Given the description of an element on the screen output the (x, y) to click on. 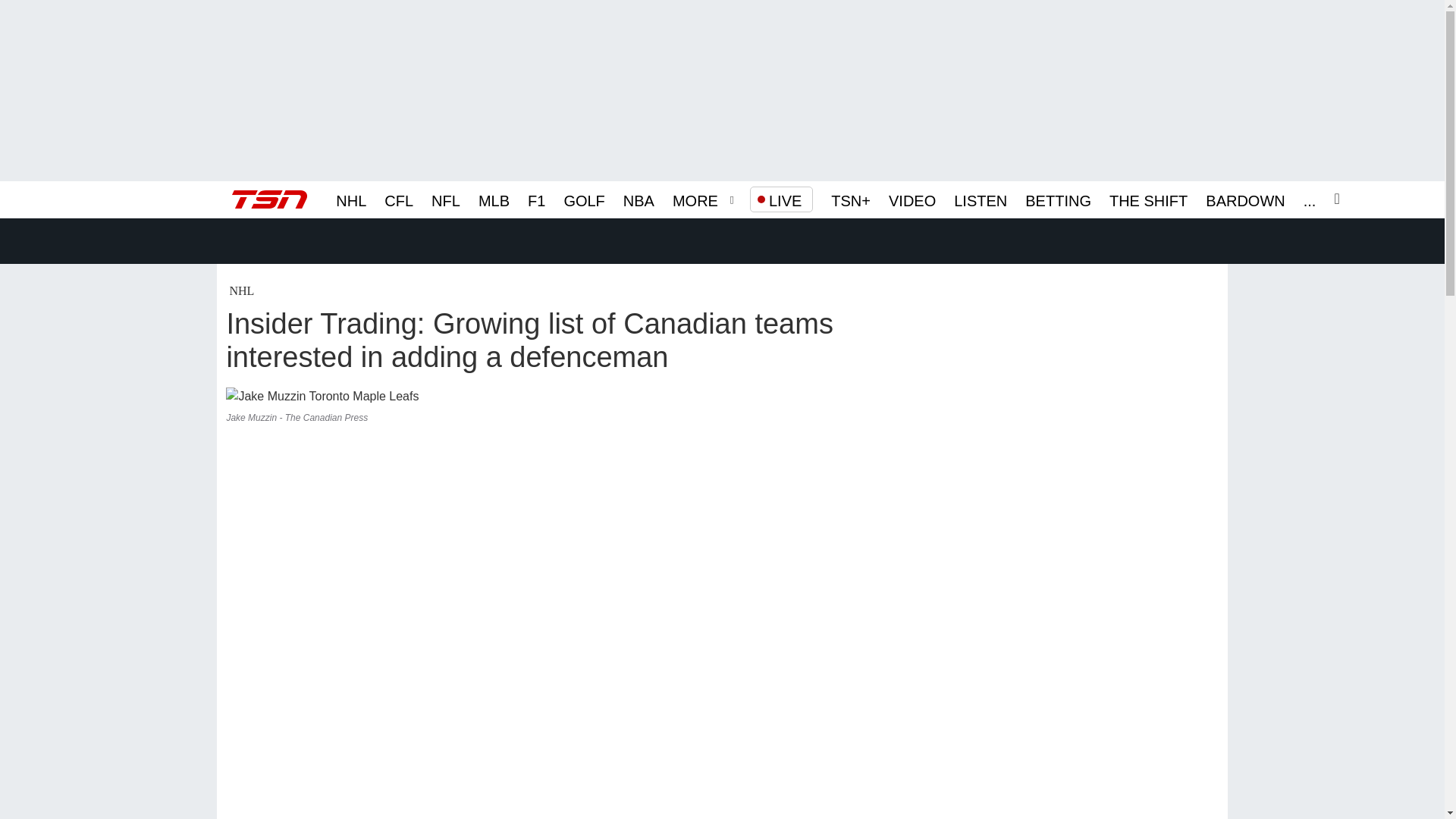
MORE (694, 199)
MLB (494, 199)
NHL (351, 199)
GOLF (583, 199)
TSN (269, 199)
NFL (445, 199)
CFL (398, 199)
NBA (638, 199)
